Given the description of an element on the screen output the (x, y) to click on. 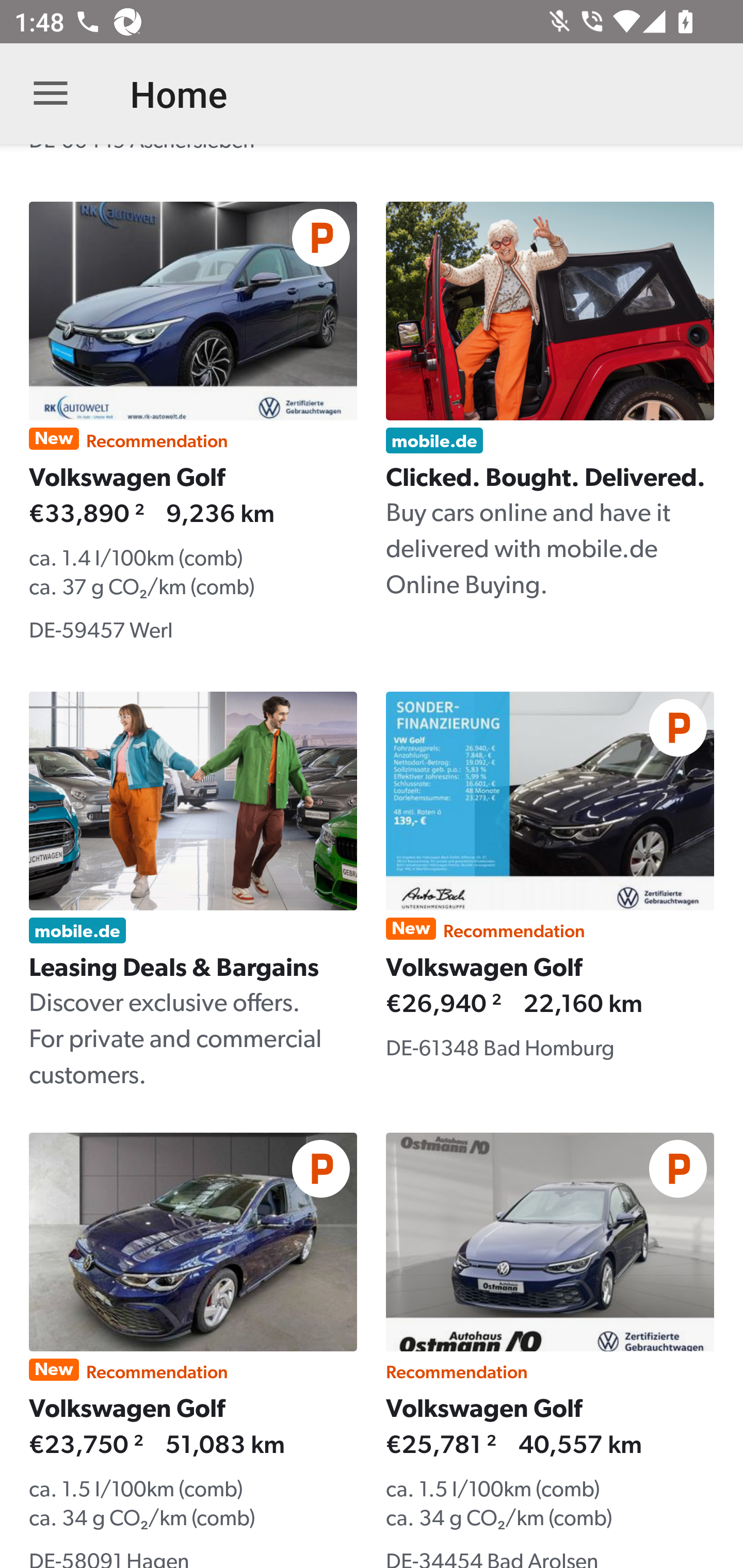
Open navigation bar (50, 93)
